Given the description of an element on the screen output the (x, y) to click on. 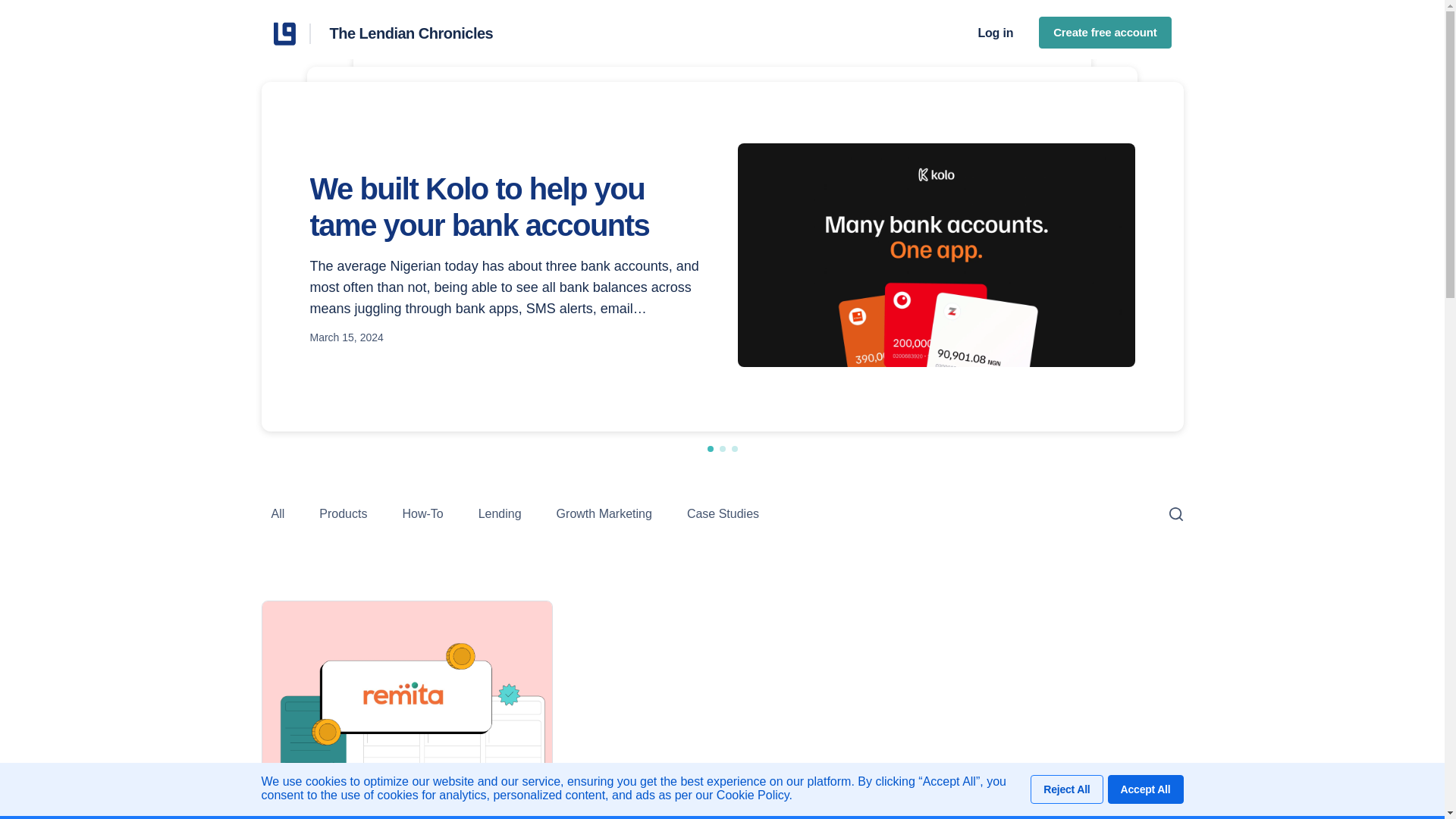
Growth Marketing (604, 513)
Create free account (1104, 32)
Products (342, 513)
Case Studies (722, 513)
Accept All (1145, 788)
Log in (1001, 32)
How-To (421, 513)
The Lendian Chronicles (290, 33)
Create free account (1104, 32)
Log in (994, 32)
Lending (500, 513)
Reject All (1066, 788)
Legal compliance pitfalls lenders must avoid in Nigeria (553, 175)
All (277, 513)
